Given the description of an element on the screen output the (x, y) to click on. 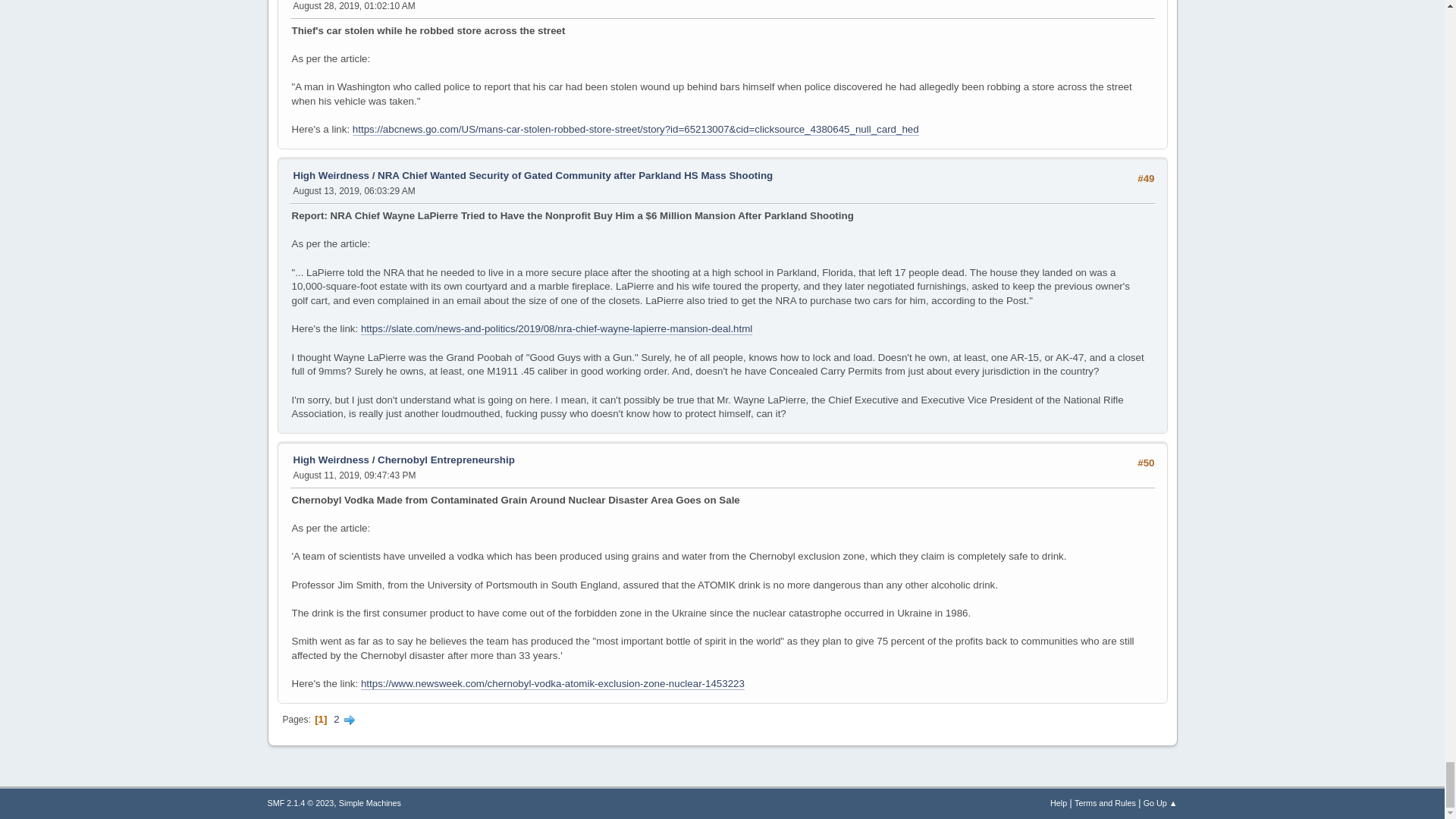
License (299, 802)
Simple Machines (370, 802)
